Given the description of an element on the screen output the (x, y) to click on. 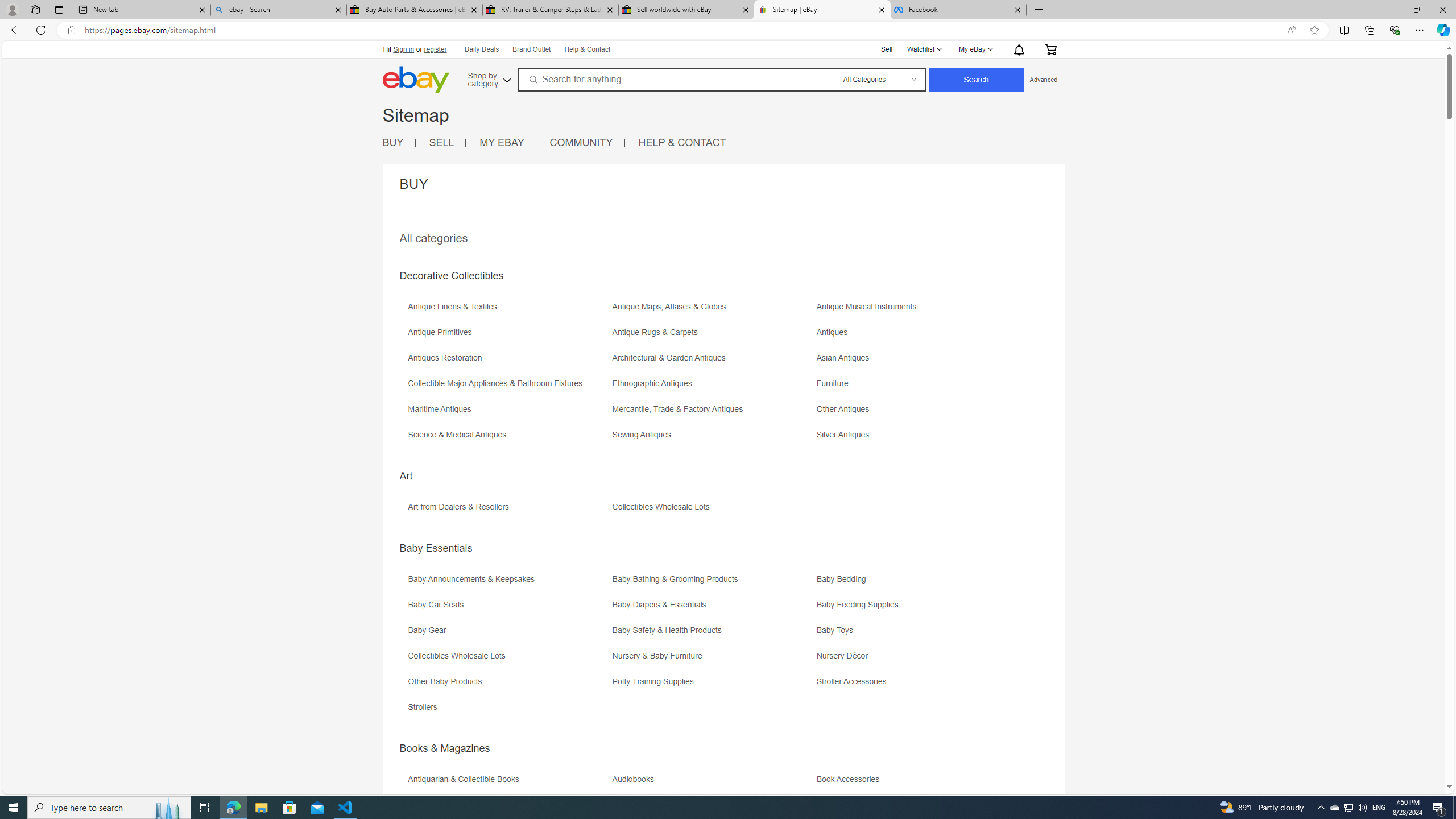
Sewing Antiques (644, 434)
Advanced Search (1042, 78)
Baby Gear (429, 630)
Other Antiques (917, 412)
Collectible Major Appliances & Bathroom Fixtures (497, 383)
Search for anything (675, 79)
Maritime Antiques (442, 408)
Baby Car Seats (508, 608)
